Given the description of an element on the screen output the (x, y) to click on. 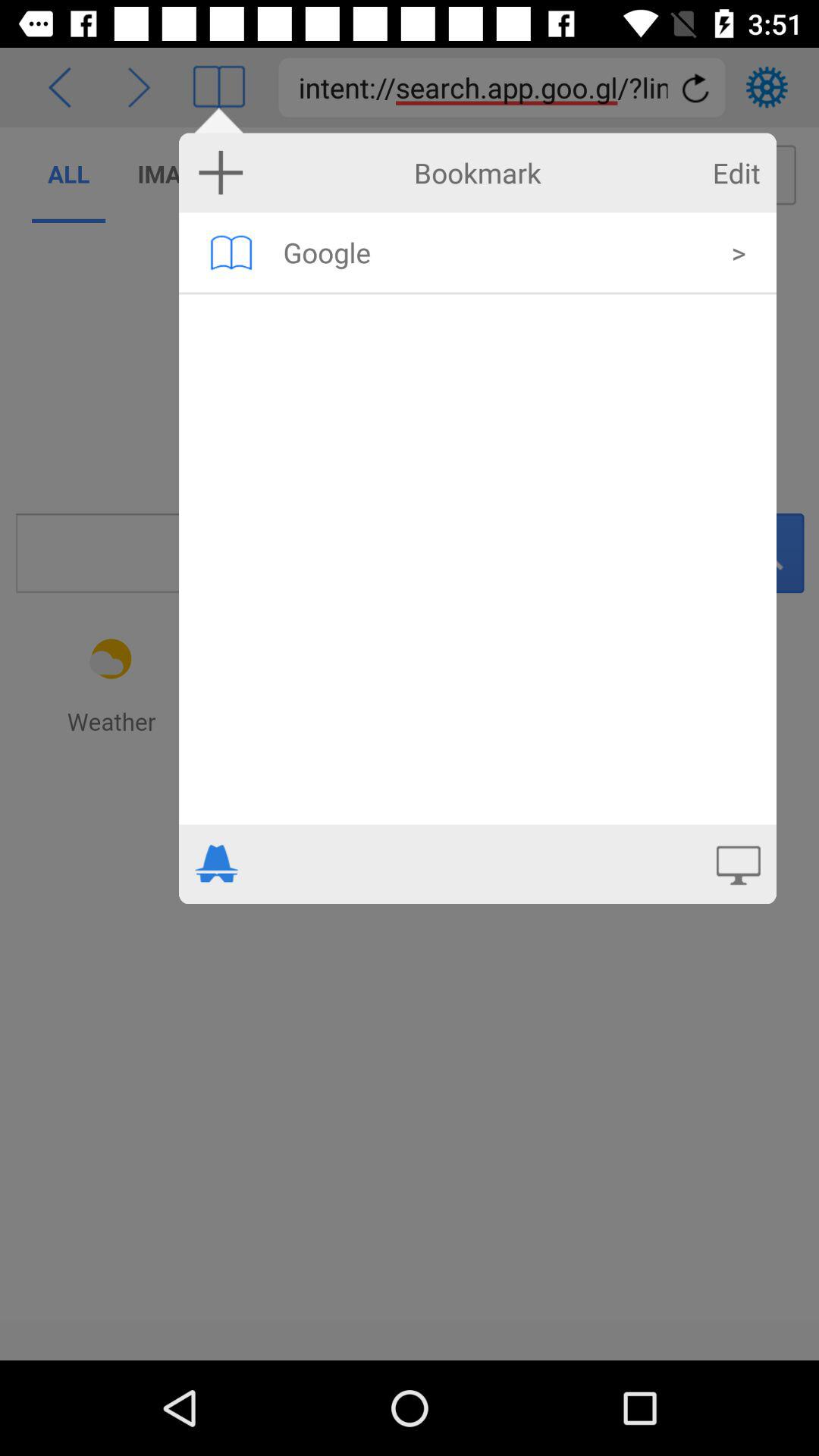
swipe until the edit (736, 172)
